Given the description of an element on the screen output the (x, y) to click on. 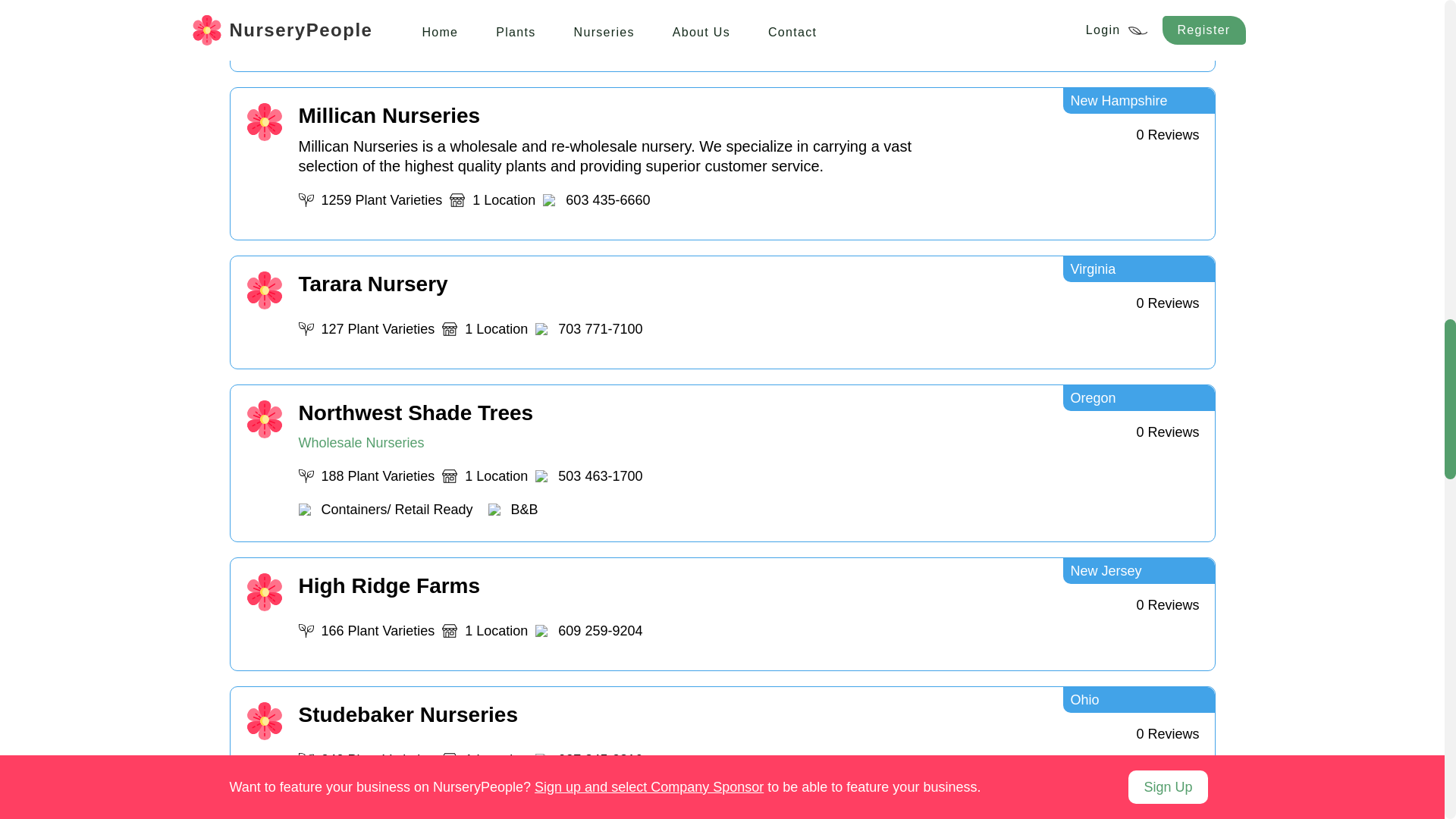
Oregon (632, 614)
New Jersey (1138, 397)
Virginia (1138, 570)
New Hampshire (1138, 268)
